Given the description of an element on the screen output the (x, y) to click on. 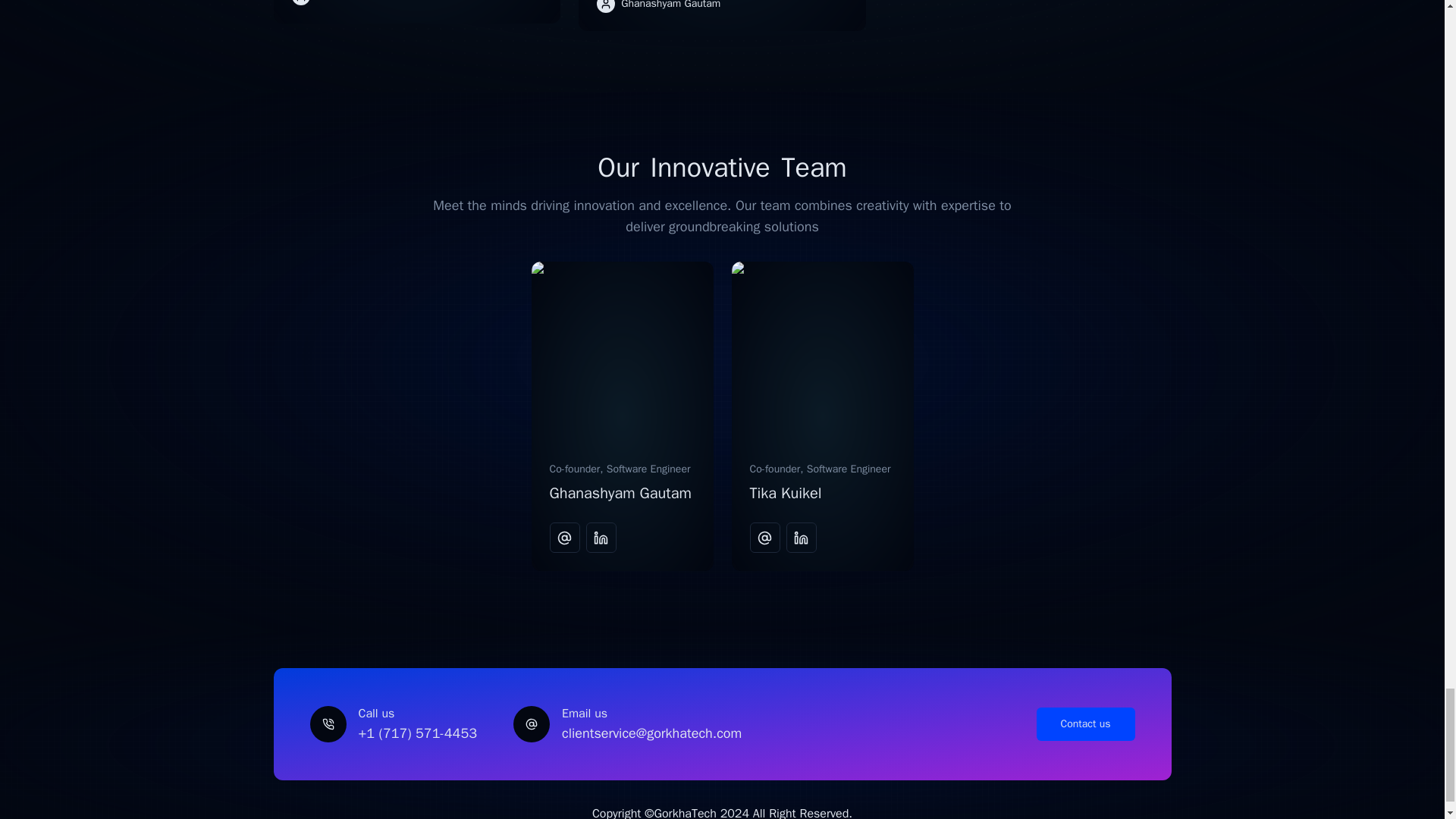
Tika Kuikel (785, 493)
Ghanashyam Gautam (619, 493)
